Given the description of an element on the screen output the (x, y) to click on. 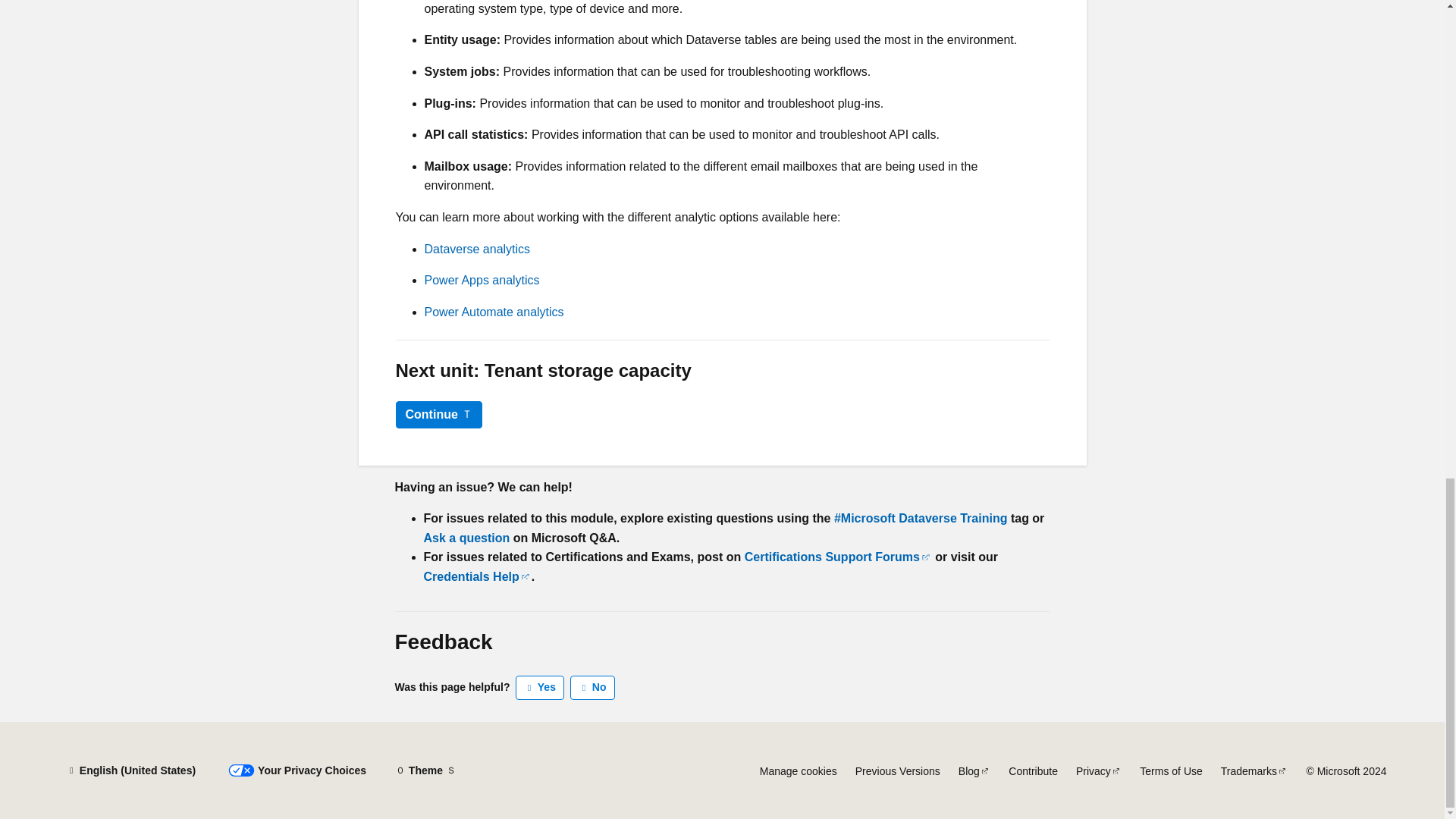
This article is helpful (539, 687)
Theme (425, 770)
This article is not helpful (592, 687)
